Given the description of an element on the screen output the (x, y) to click on. 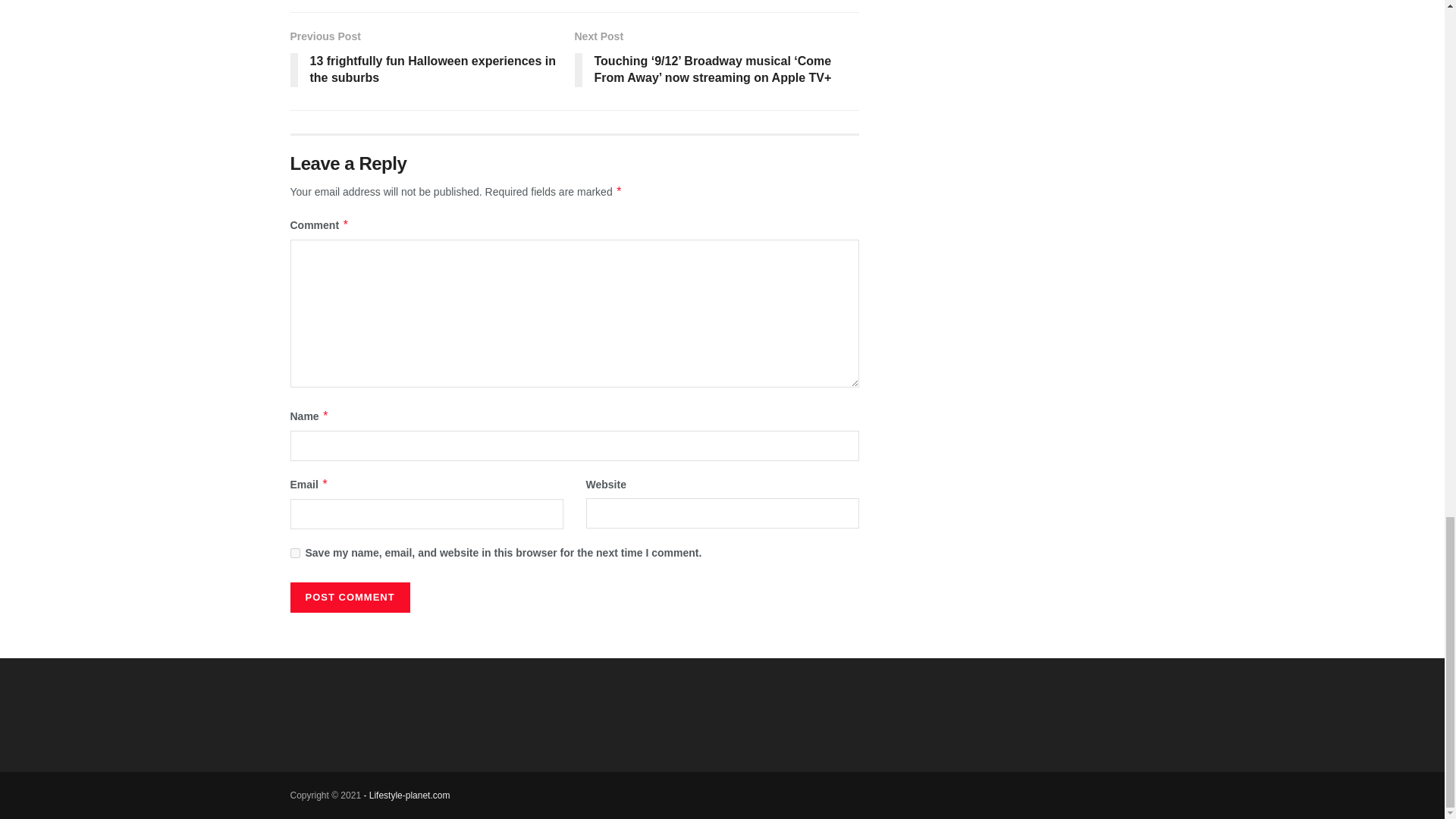
Post Comment (349, 597)
Post Comment (349, 597)
yes (294, 552)
